Given the description of an element on the screen output the (x, y) to click on. 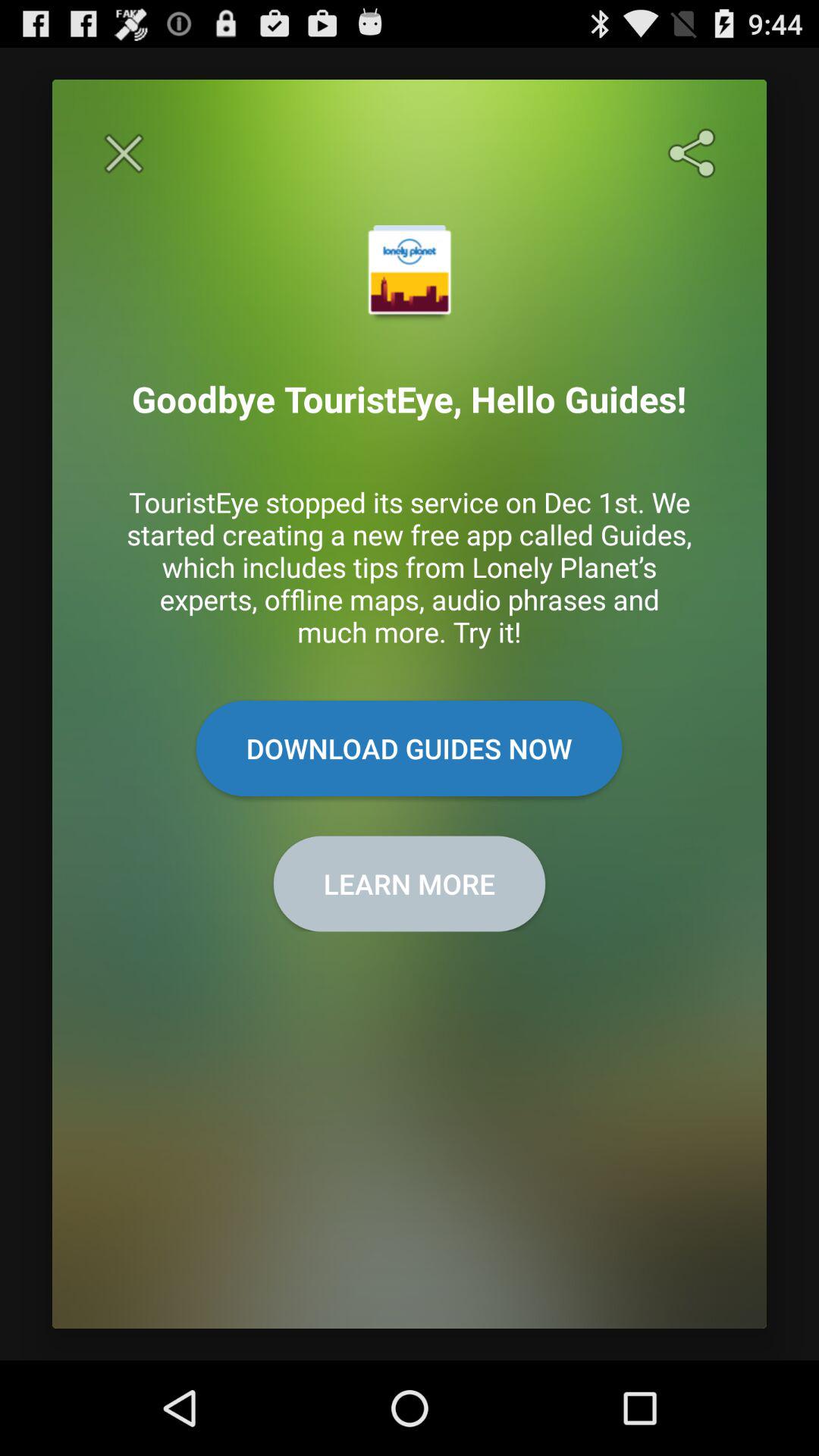
launch the icon at the top right corner (694, 153)
